Given the description of an element on the screen output the (x, y) to click on. 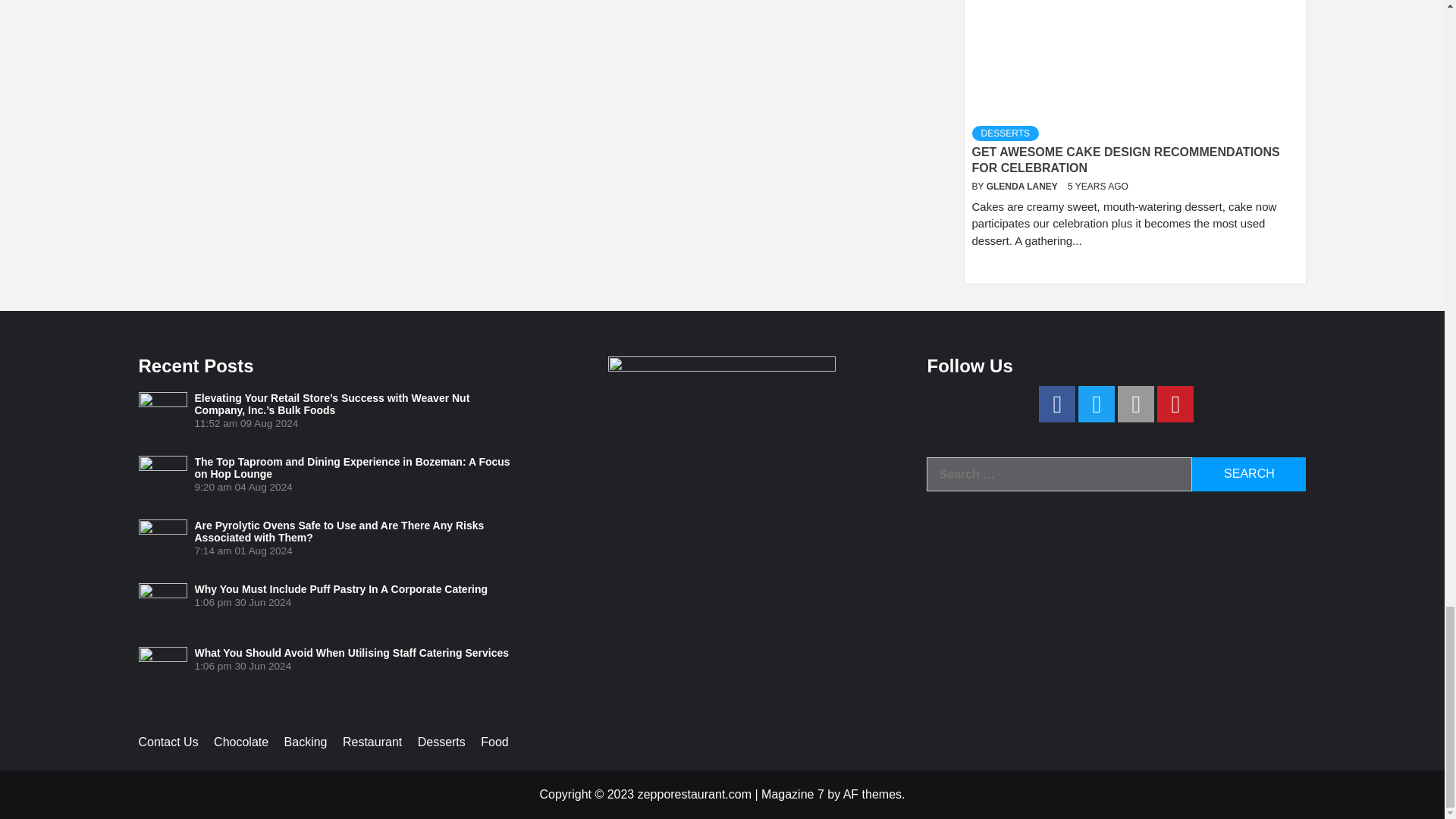
LinkedIn (1136, 403)
Search (1249, 474)
Twitter (1096, 403)
Search (1249, 474)
Pinterest (1175, 403)
Facebook (1057, 403)
